Given the description of an element on the screen output the (x, y) to click on. 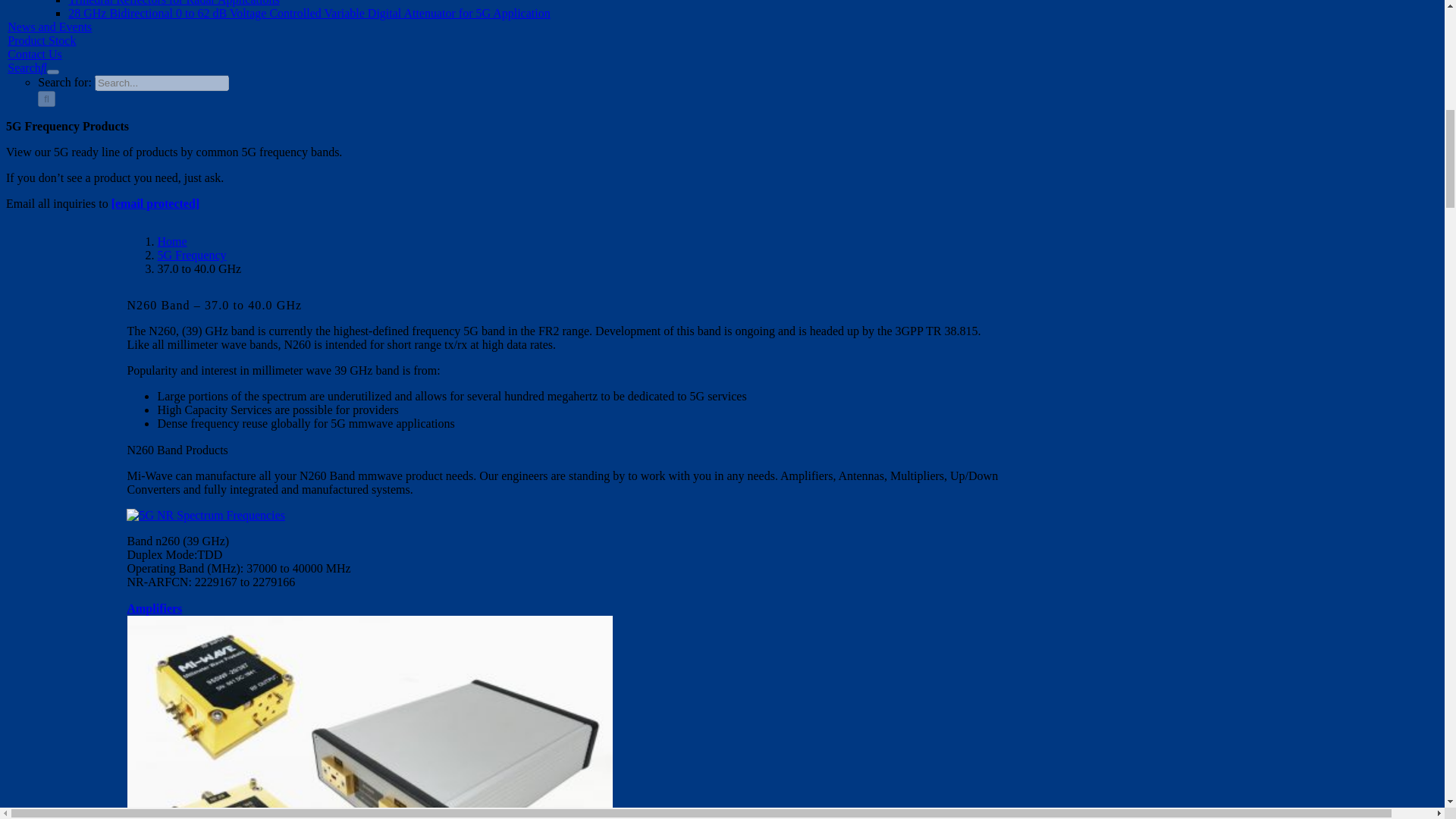
Search (26, 67)
